Given the description of an element on the screen output the (x, y) to click on. 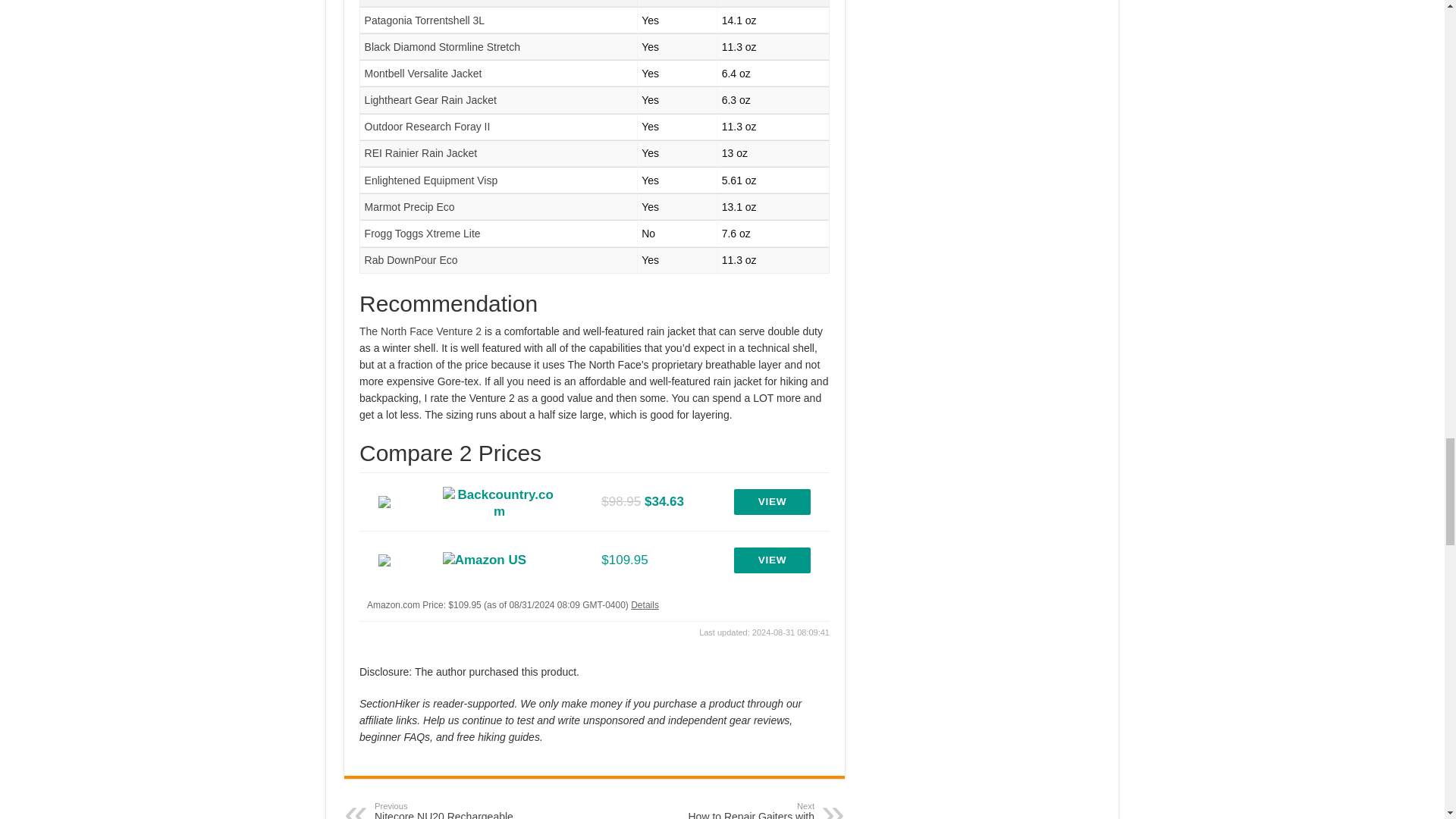
Montbell Versalite Jacket (423, 73)
Patagonia Torrentshell 3L (424, 20)
Black Diamond Stormline Stretch (442, 46)
Outdoor Research Foray II (427, 126)
Backcountry.com (499, 501)
REI Rainier Rain Jacket (421, 152)
Lightheart Gear Rain Jacket (430, 100)
Amazon US (483, 560)
